Given the description of an element on the screen output the (x, y) to click on. 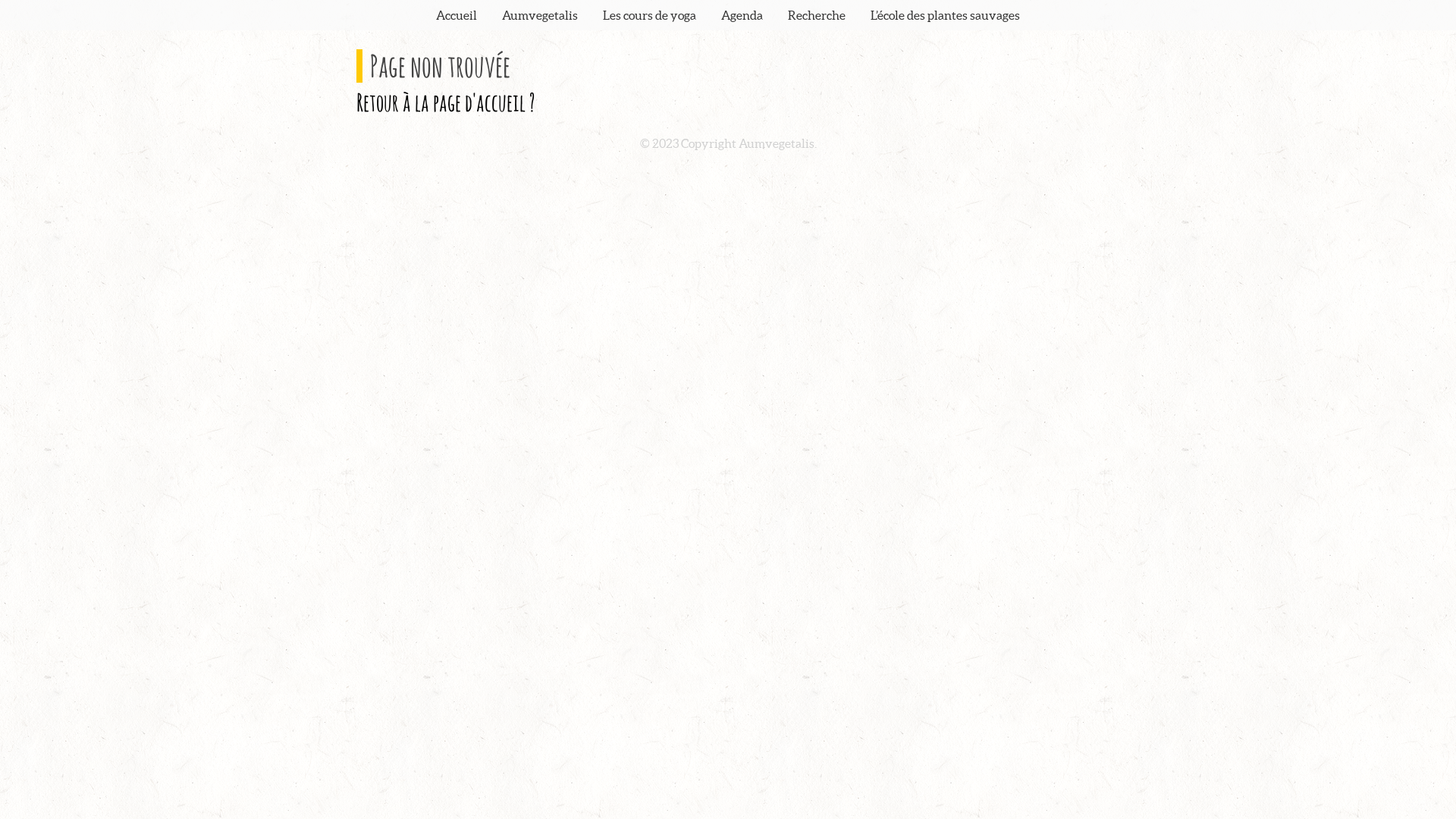
Accueil Element type: text (456, 15)
Les cours de yoga Element type: text (649, 15)
Recherche Element type: text (816, 15)
Agenda Element type: text (741, 15)
Aumvegetalis Element type: text (539, 15)
